Given the description of an element on the screen output the (x, y) to click on. 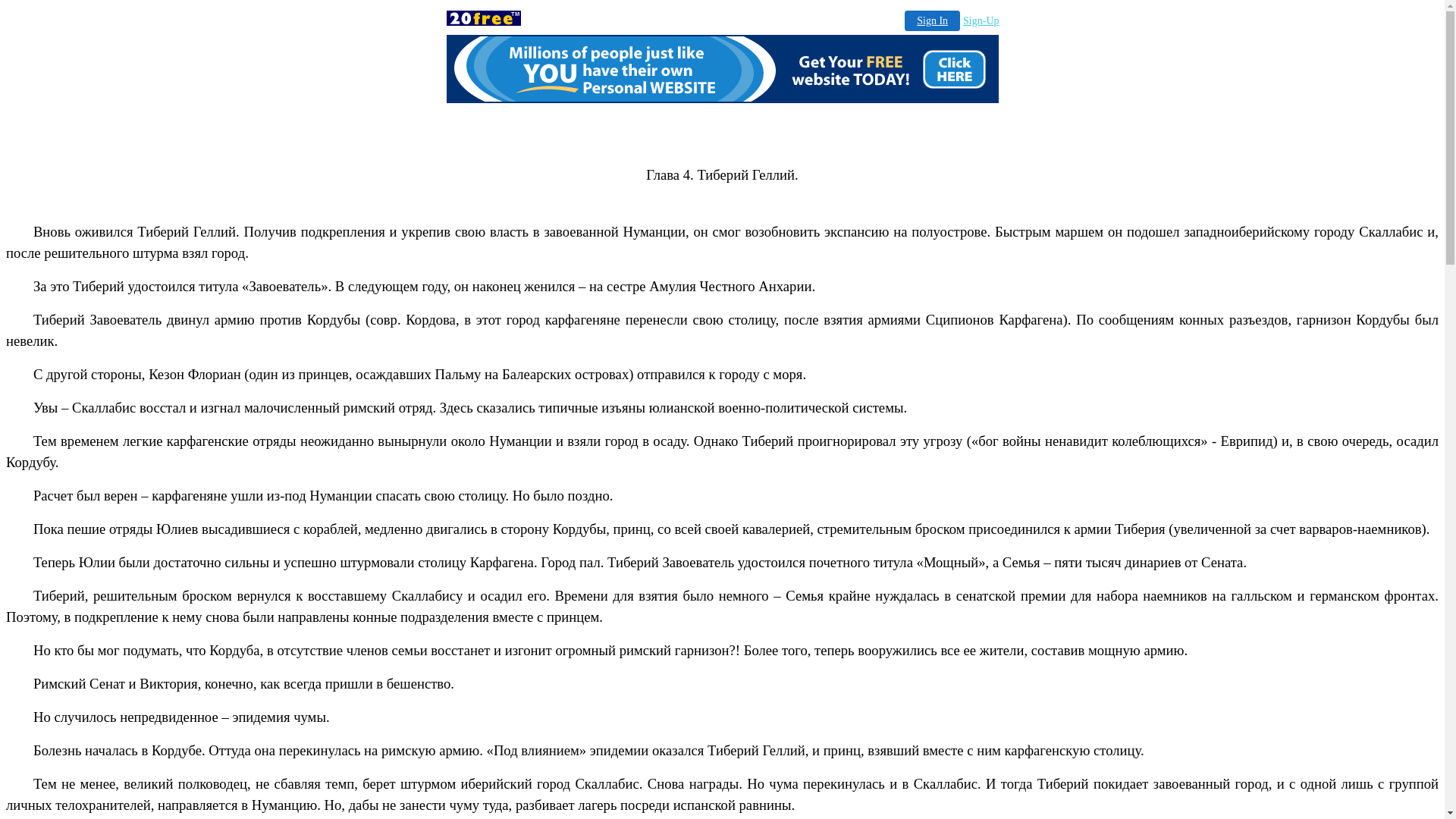
Sign-Up Element type: text (980, 20)
Sign In Element type: text (932, 20)
